Given the description of an element on the screen output the (x, y) to click on. 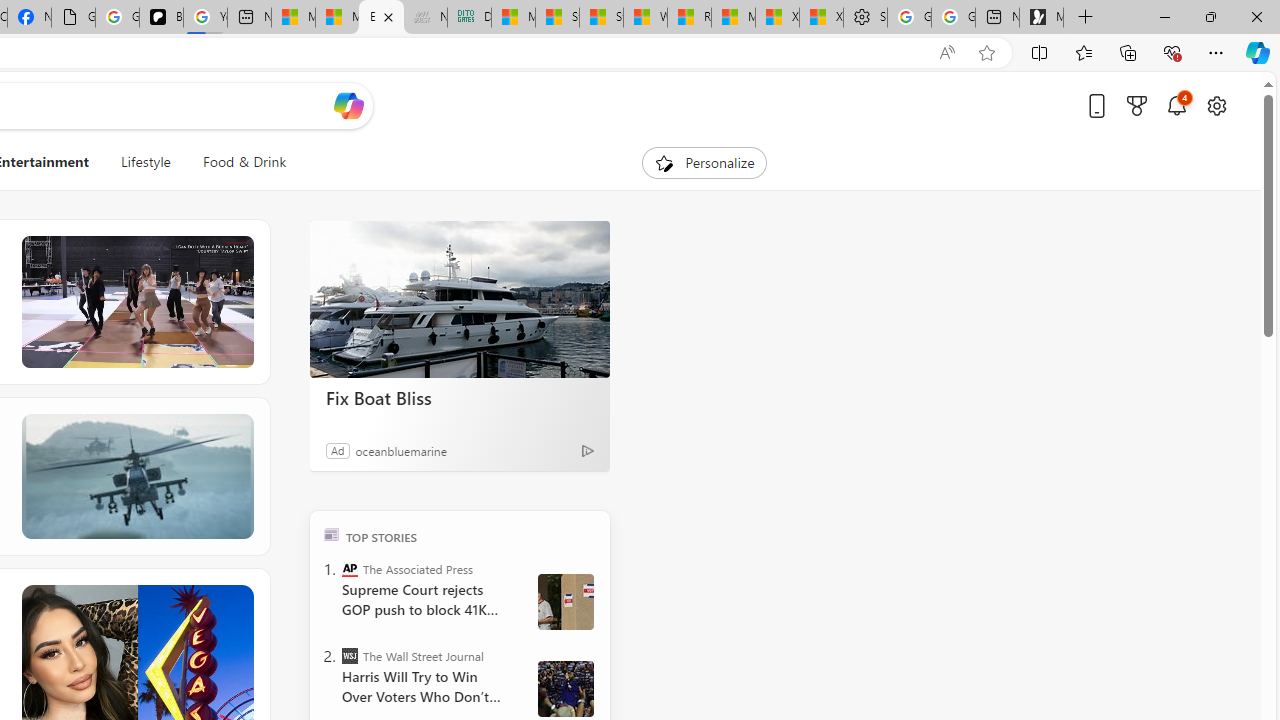
DITOGAMES AG Imprint (469, 17)
Fix Boat Bliss (459, 299)
Food & Drink (244, 162)
Navy Quest (425, 17)
Entertainment - MSN (381, 17)
oceanbluemarine (400, 450)
